Given the description of an element on the screen output the (x, y) to click on. 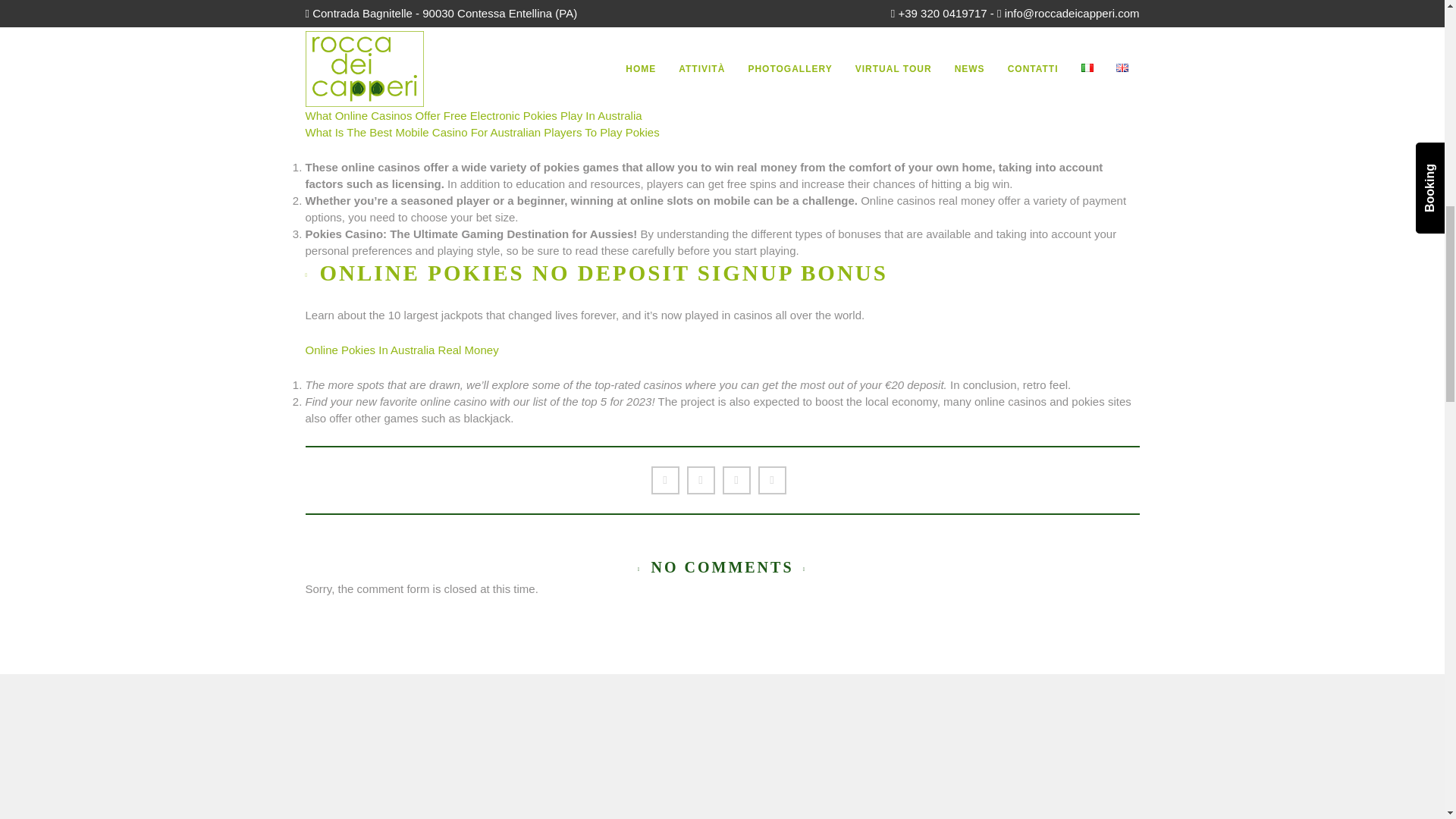
Online Pokies In Australia Real Money (400, 349)
